Given the description of an element on the screen output the (x, y) to click on. 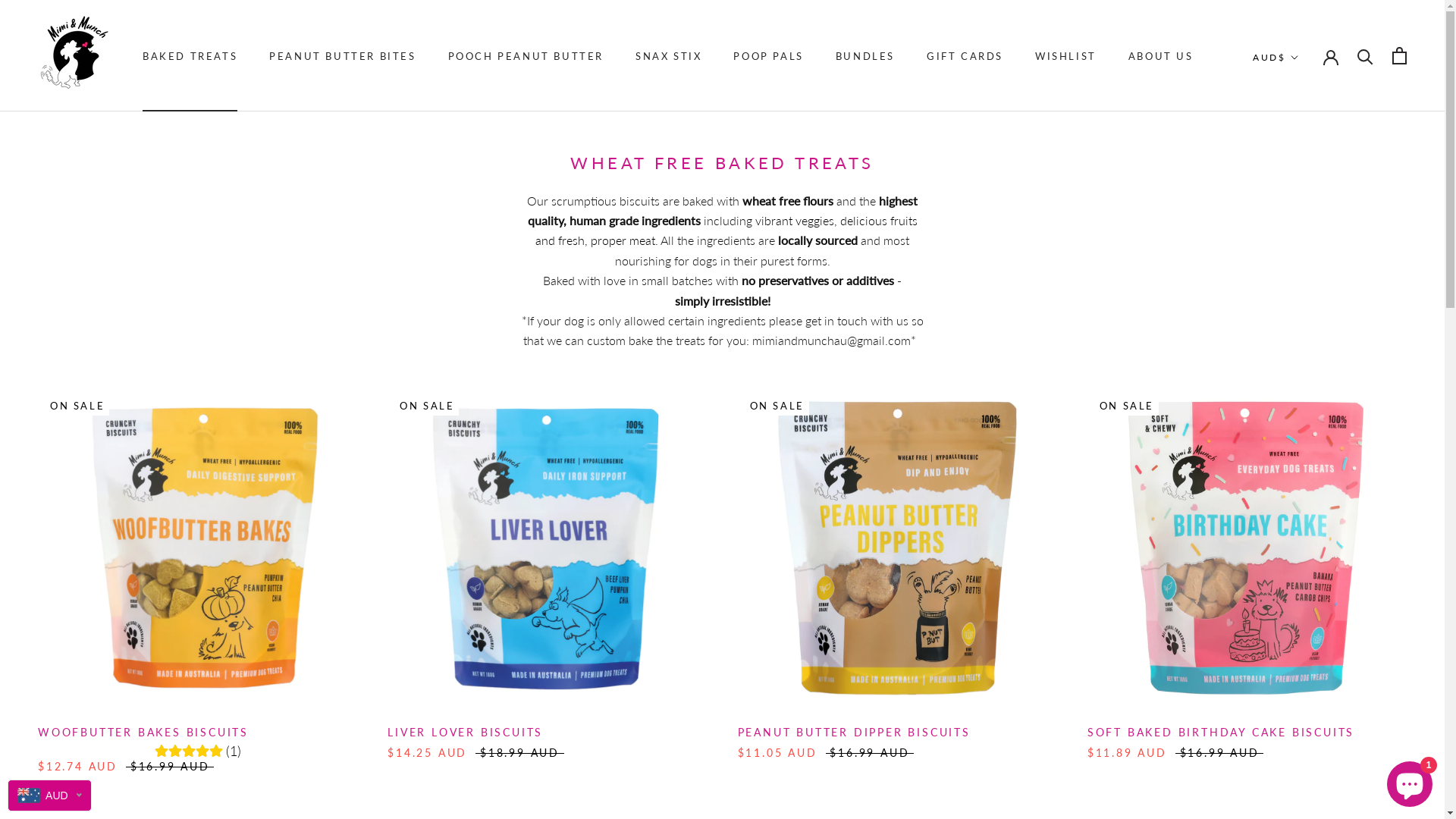
PEANUT BUTTER BITES
PEANUT BUTTER BITES Element type: text (342, 56)
SOFT BAKED BIRTHDAY CAKE BISCUITS Element type: text (1220, 731)
AFN Element type: text (1304, 114)
ALL Element type: text (1304, 136)
BSD Element type: text (1304, 430)
BZD Element type: text (1304, 475)
GIFT CARDS
GIFT CARDS Element type: text (964, 56)
EUR Element type: text (1304, 792)
BAM Element type: text (1304, 271)
BIF Element type: text (1304, 362)
WOOFBUTTER BAKES BISCUITS Element type: text (142, 731)
AUD$ Element type: text (1275, 57)
BWP Element type: text (1304, 453)
AMD Element type: text (1304, 158)
BBD Element type: text (1304, 294)
CNY Element type: text (1304, 566)
AUD Element type: text (1304, 204)
POOP PALS
POOP PALS Element type: text (768, 56)
CHF Element type: text (1304, 543)
BAKED TREATS
BAKED TREATS Element type: text (189, 56)
AZN Element type: text (1304, 249)
ABOUT US Element type: text (1160, 56)
CZK Element type: text (1304, 633)
DKK Element type: text (1304, 679)
BDT Element type: text (1304, 317)
LIVER LOVER BISCUITS Element type: text (464, 731)
POOCH PEANUT BUTTER Element type: text (525, 56)
PEANUT BUTTER DIPPER BISCUITS Element type: text (853, 731)
EGP Element type: text (1304, 746)
CDF Element type: text (1304, 520)
CAD Element type: text (1304, 497)
DOP Element type: text (1304, 701)
SNAX STIX
SNAX STIX Element type: text (668, 56)
BND Element type: text (1304, 384)
AED Element type: text (1304, 91)
DZD Element type: text (1304, 723)
BOB Element type: text (1304, 407)
ANG Element type: text (1304, 181)
ETB Element type: text (1304, 769)
CVE Element type: text (1304, 610)
WISHLIST
WISHLIST Element type: text (1065, 56)
AWG Element type: text (1304, 227)
DJF Element type: text (1304, 656)
BUNDLES
BUNDLES Element type: text (864, 56)
BGN Element type: text (1304, 340)
Shopify online store chat Element type: hover (1409, 780)
CRC Element type: text (1304, 588)
